Given the description of an element on the screen output the (x, y) to click on. 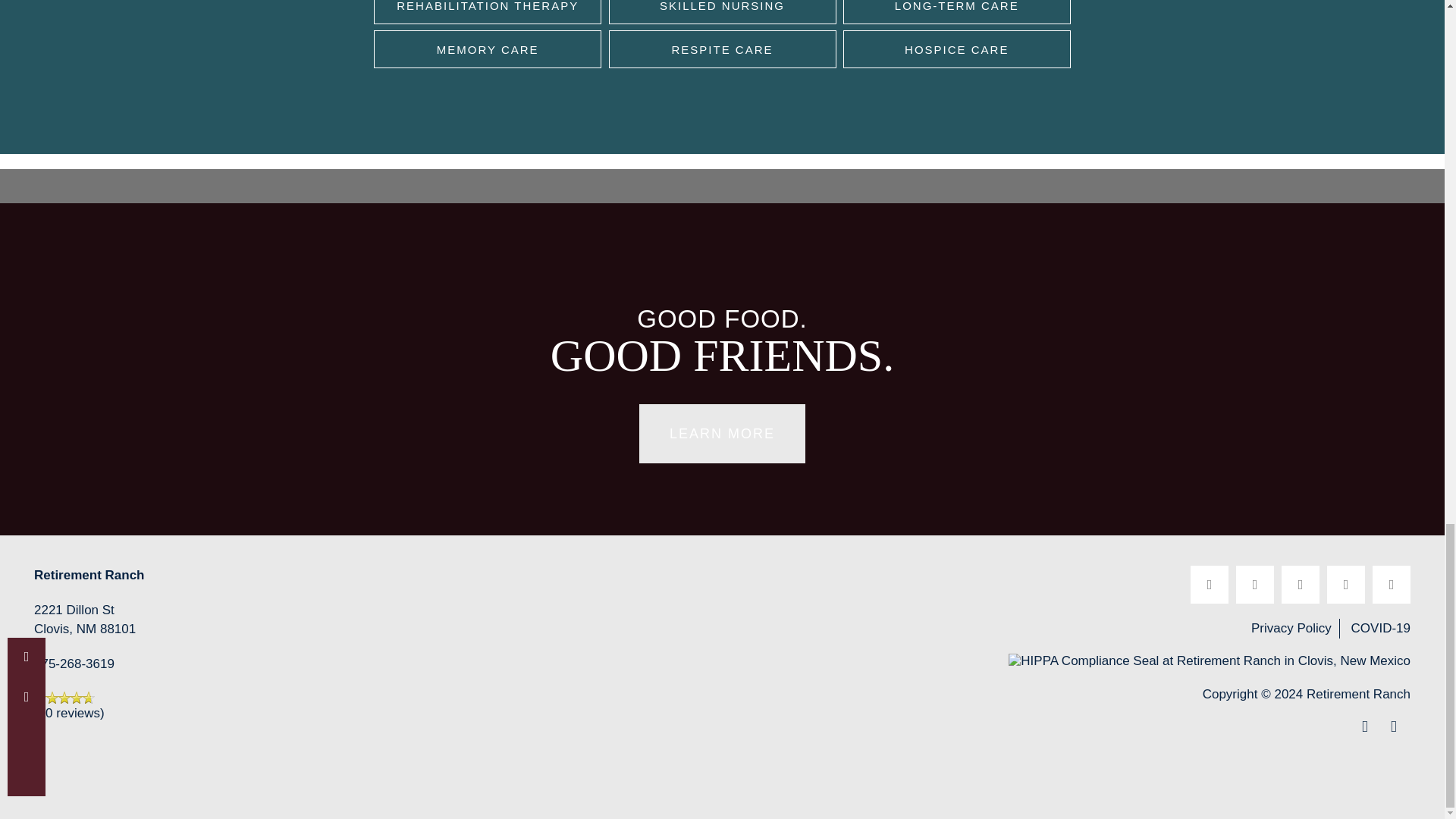
LONG-TERM CARE (956, 12)
LinkedIn (1300, 584)
Instagram (1345, 584)
Property Phone Number (74, 665)
REHABILITATION THERAPY (487, 12)
Yelp (1255, 584)
SKILLED NURSING (721, 12)
Facebook (1209, 584)
Google My Business (1391, 584)
